Given the description of an element on the screen output the (x, y) to click on. 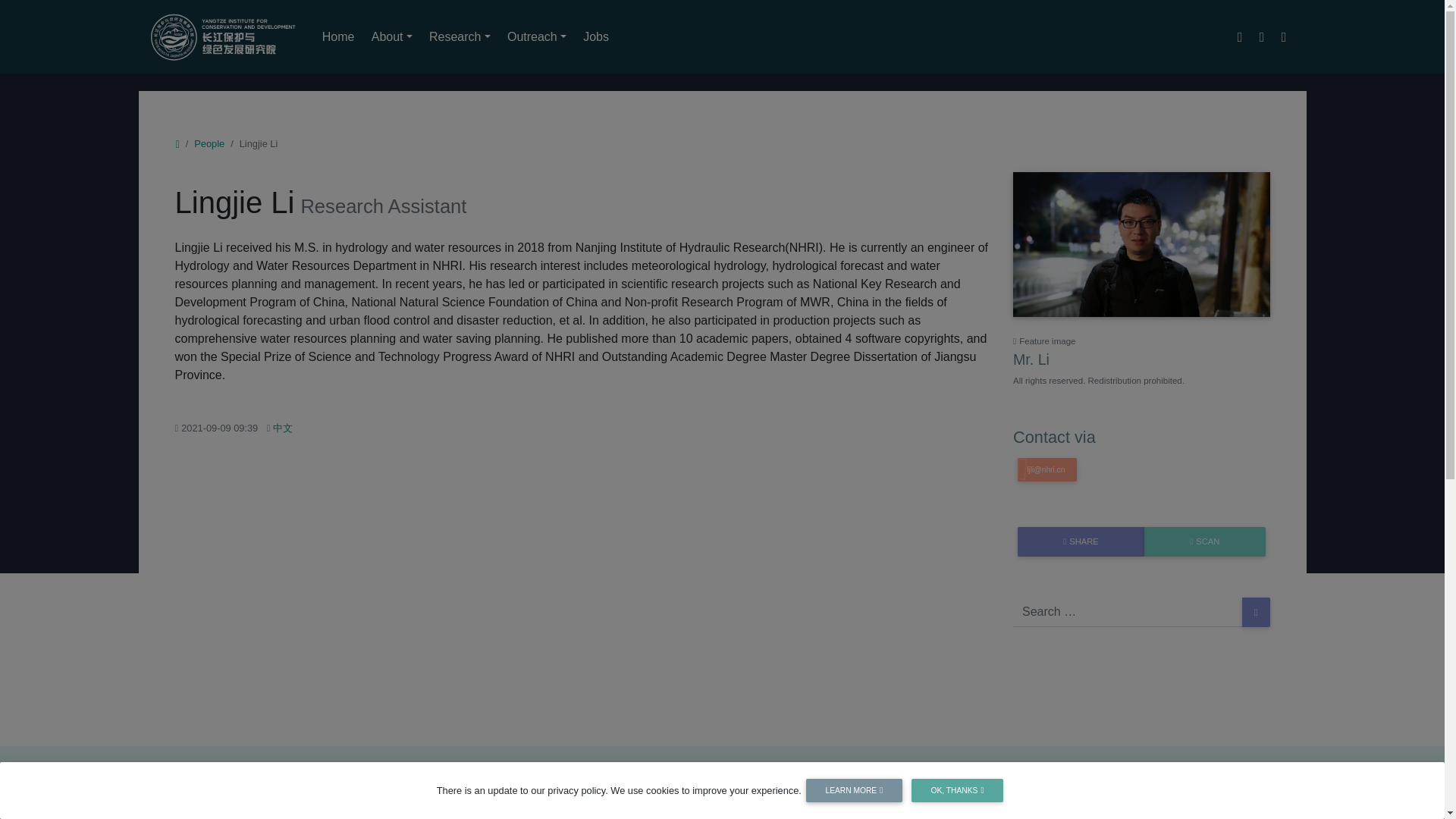
Jobs (596, 37)
SHARE (1080, 541)
People (208, 143)
Mr. Li (1141, 246)
YICODE (222, 37)
YICODE (222, 37)
Outreach (537, 37)
Home (338, 37)
About (391, 37)
SCAN (1204, 541)
Research (459, 37)
